Given the description of an element on the screen output the (x, y) to click on. 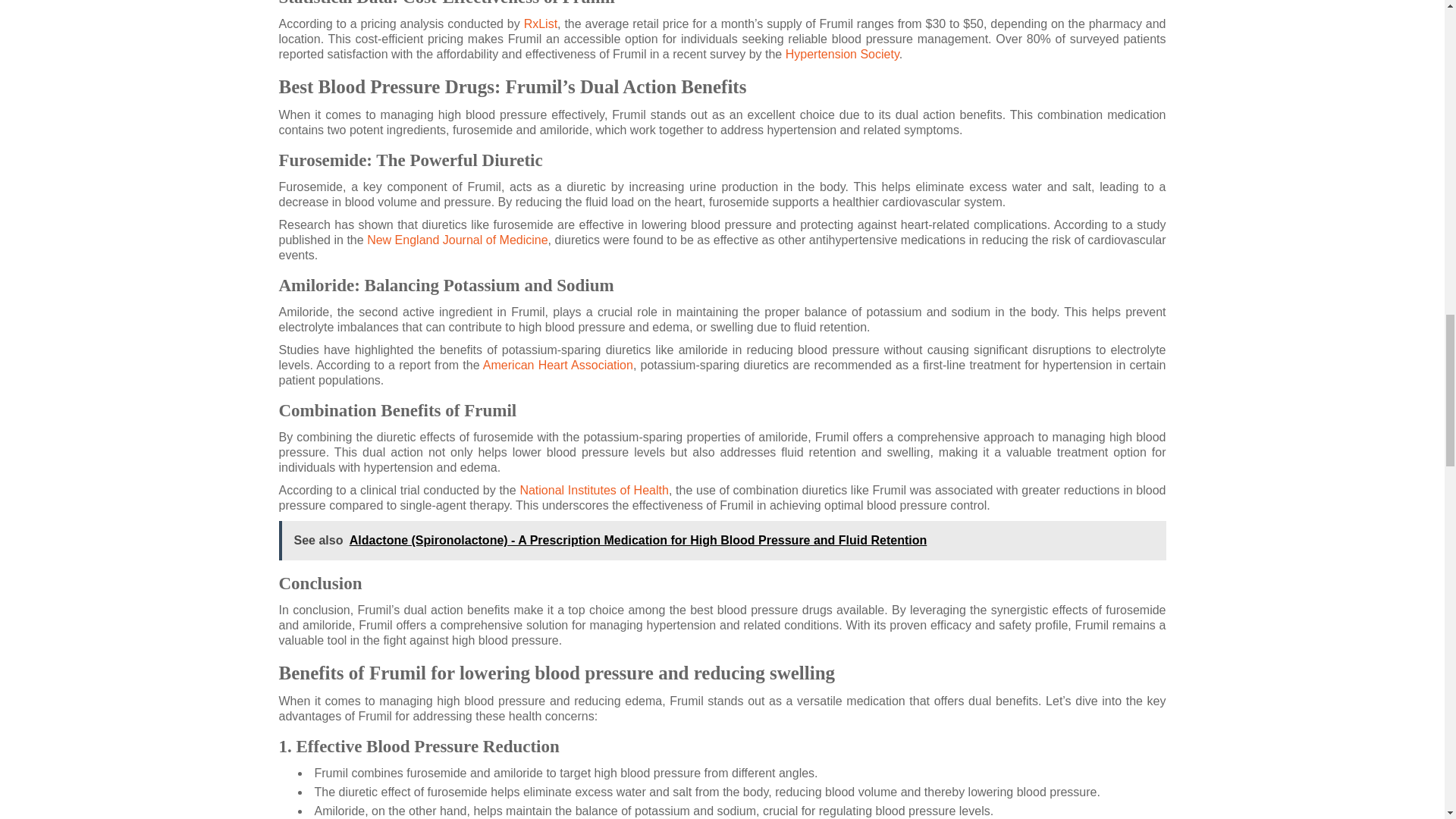
National Institutes of Health (593, 490)
RxList (540, 23)
American Heart Association (558, 364)
Hypertension Society (842, 53)
New England Journal of Medicine (456, 239)
